Given the description of an element on the screen output the (x, y) to click on. 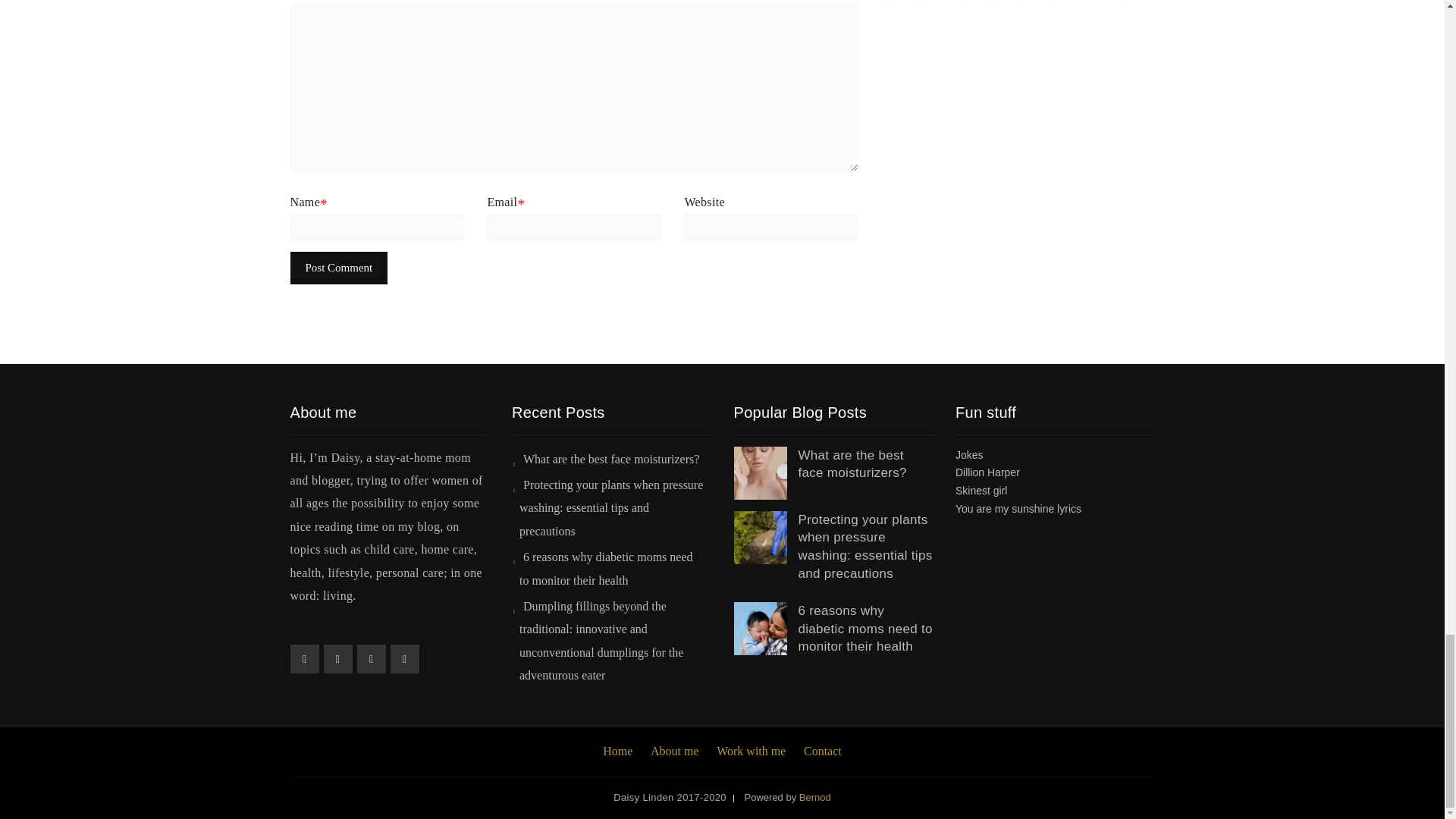
Post Comment (338, 267)
